Given the description of an element on the screen output the (x, y) to click on. 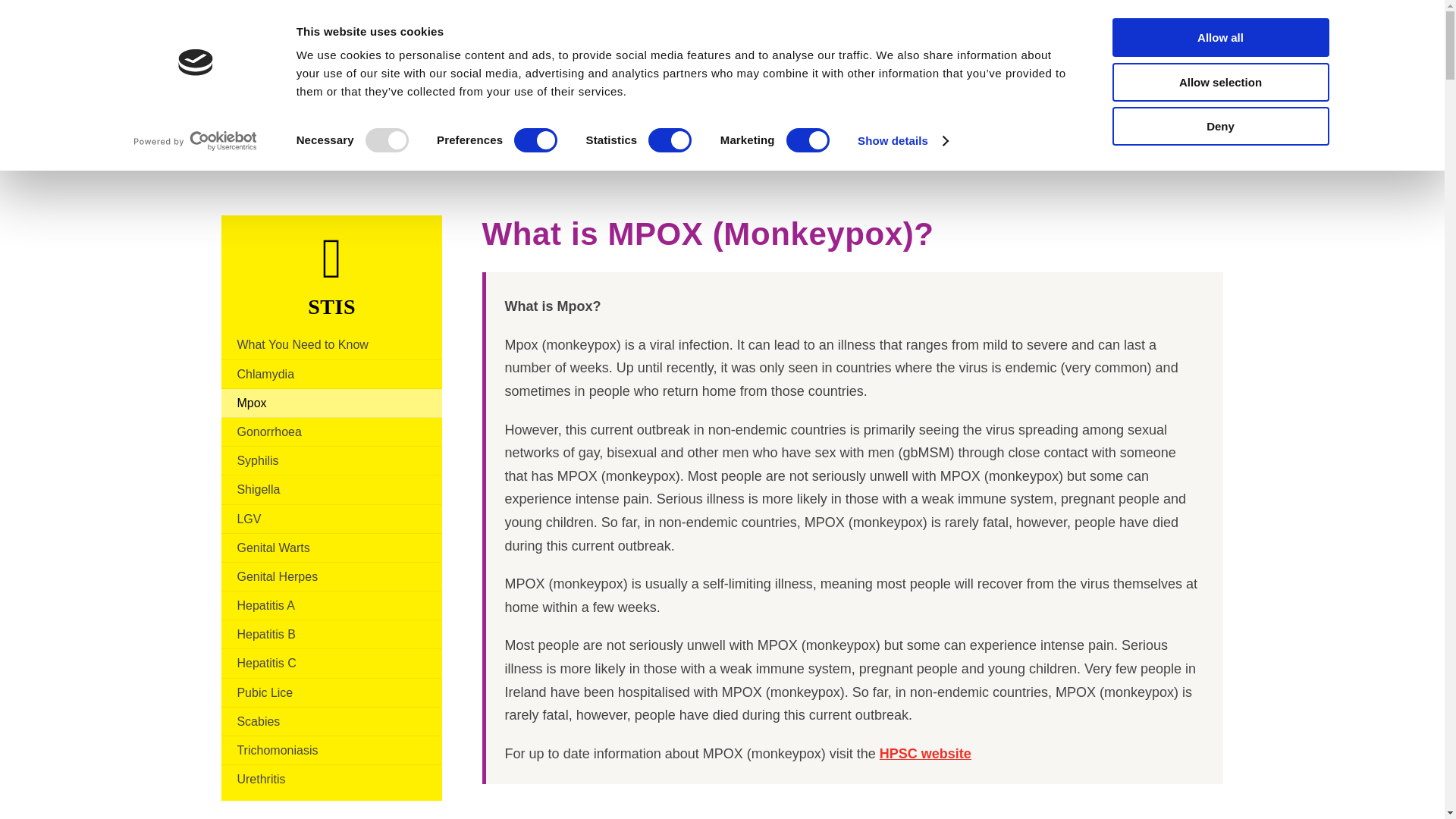
Show details (902, 140)
English (1099, 36)
Allow all (1219, 37)
Allow selection (1219, 81)
Deny (1219, 126)
